Given the description of an element on the screen output the (x, y) to click on. 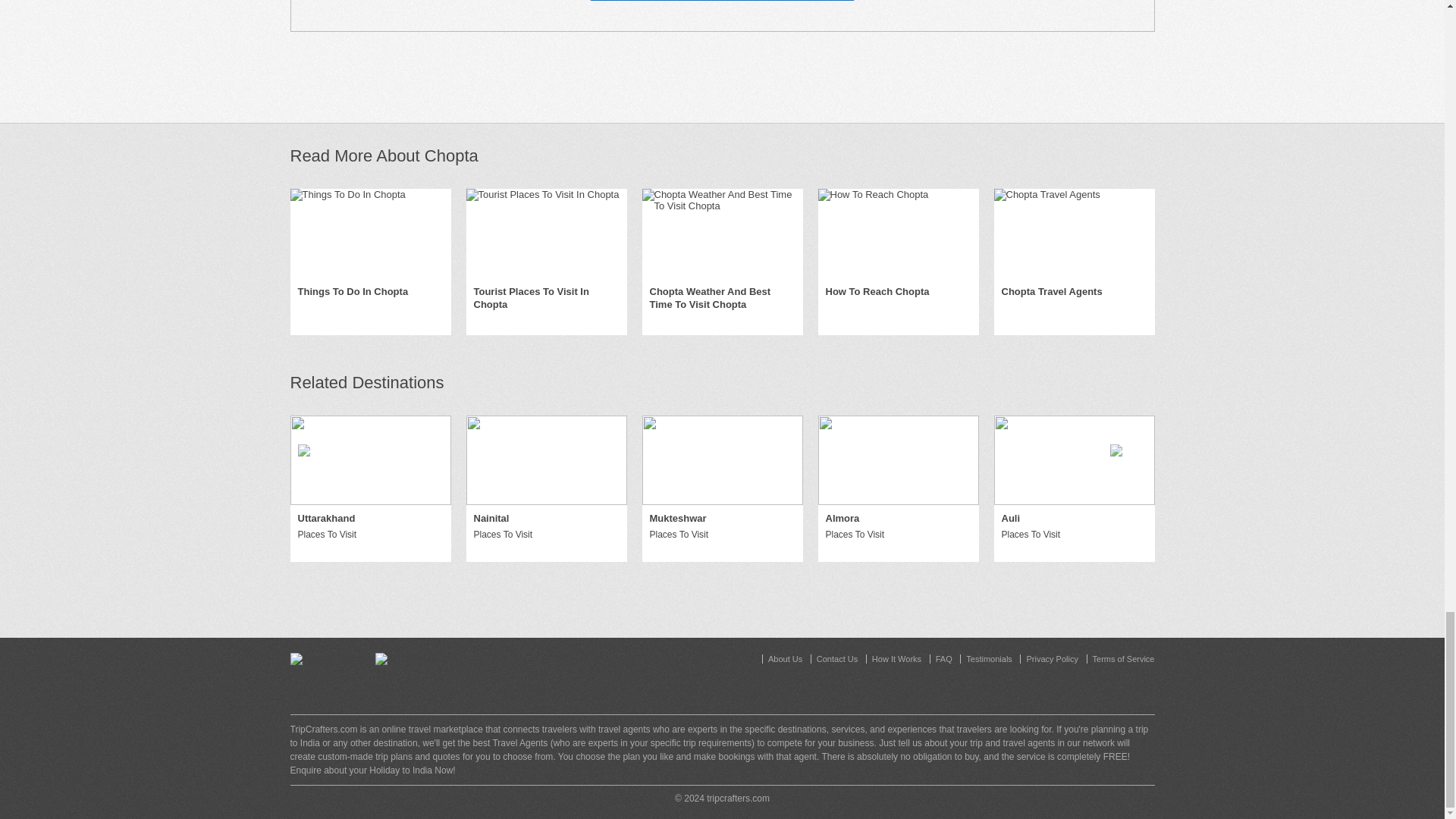
Tourist Places To Visit In Chopta (545, 298)
Chopta Weather And Best Time To Visit Chopta (721, 298)
Things To Do In Chopta (352, 291)
How To Reach Chopta (876, 291)
